Given the description of an element on the screen output the (x, y) to click on. 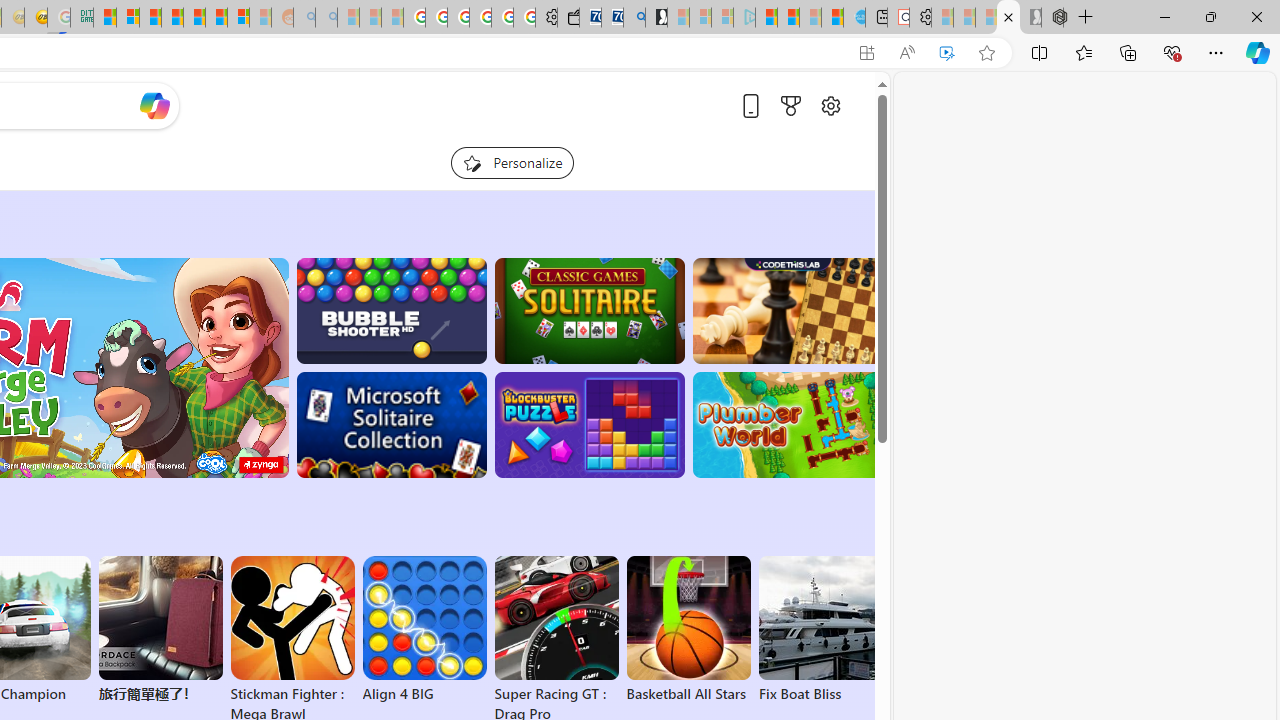
App available. Install Games from Microsoft Start (867, 53)
Wallet (568, 17)
Classic Solitaire (589, 310)
Enhance video (946, 53)
